Given the description of an element on the screen output the (x, y) to click on. 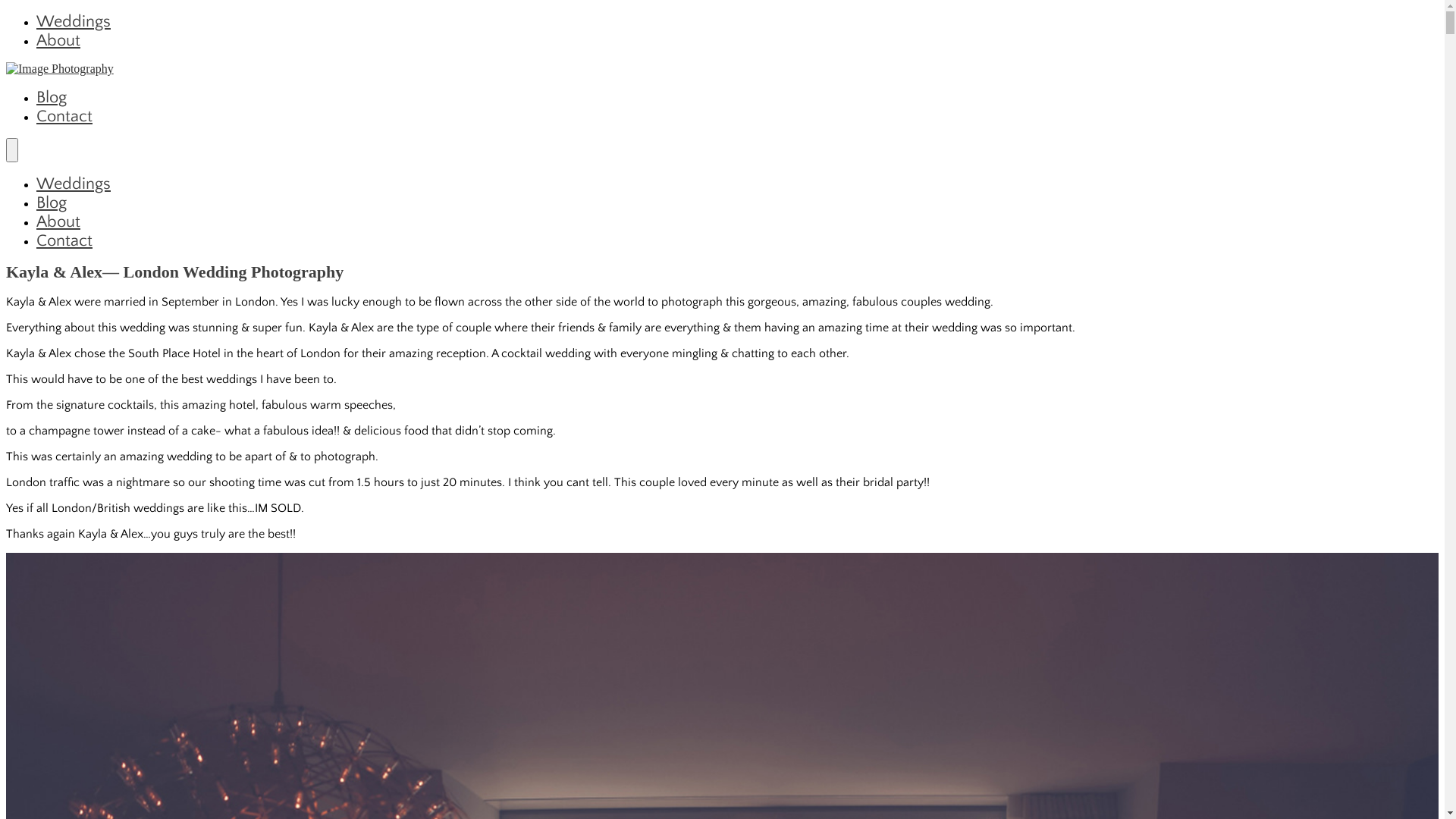
Blog Element type: text (51, 96)
Contact Element type: text (64, 240)
Blog Element type: text (51, 202)
Menu Element type: text (12, 150)
About Element type: text (58, 40)
Weddings Element type: text (73, 183)
Weddings Element type: text (73, 21)
Skip to content Element type: text (5, 11)
About Element type: text (58, 221)
Contact Element type: text (64, 115)
